Given the description of an element on the screen output the (x, y) to click on. 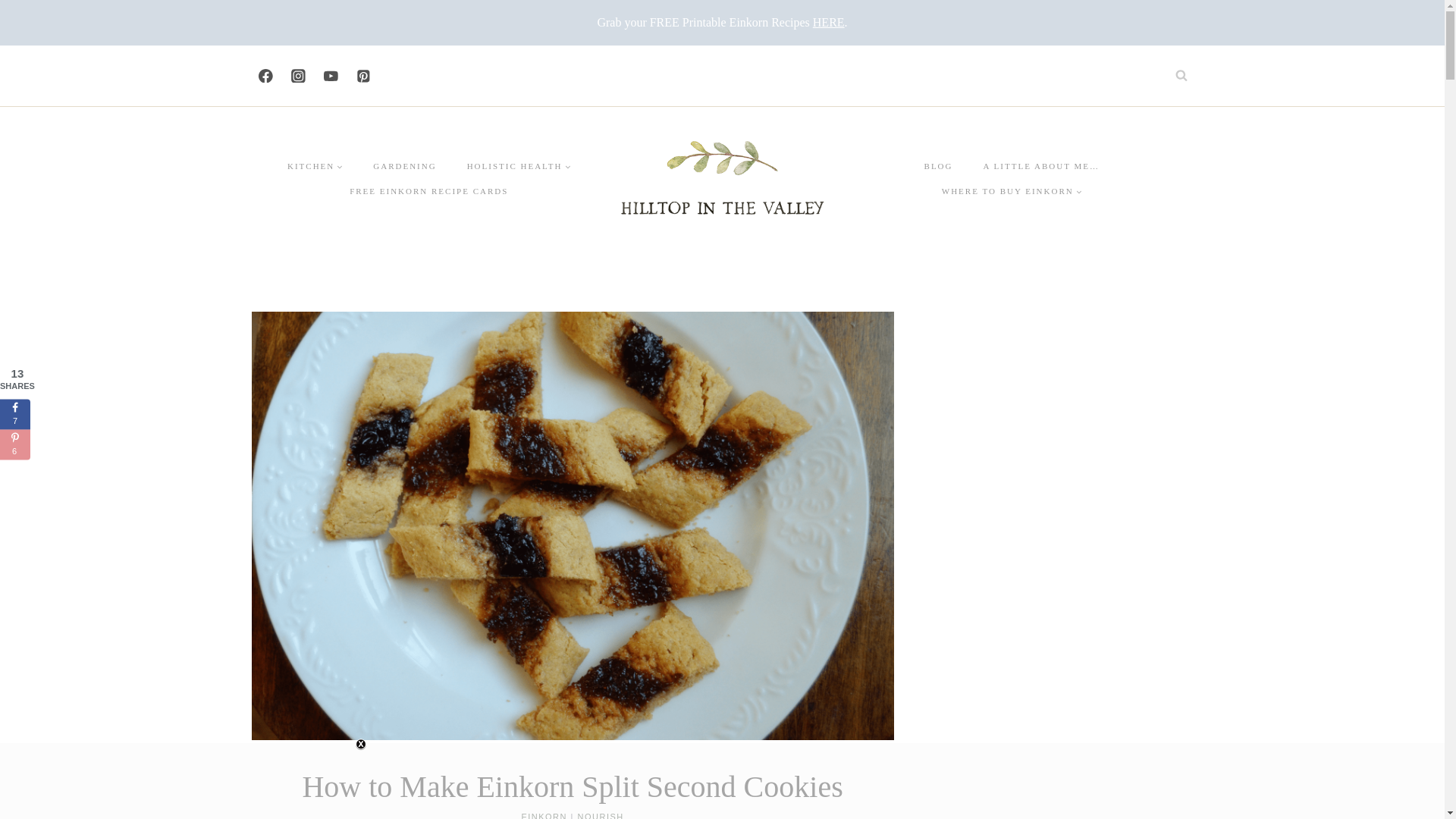
NOURISH (601, 815)
HOLISTIC HEALTH (518, 166)
GARDENING (404, 166)
BLOG (938, 166)
FREE EINKORN RECIPE CARDS (428, 191)
HERE (828, 21)
Save to Pinterest (15, 444)
Share on Facebook (15, 413)
KITCHEN (315, 166)
EINKORN (544, 815)
WHERE TO BUY EINKORN (1011, 191)
